Given the description of an element on the screen output the (x, y) to click on. 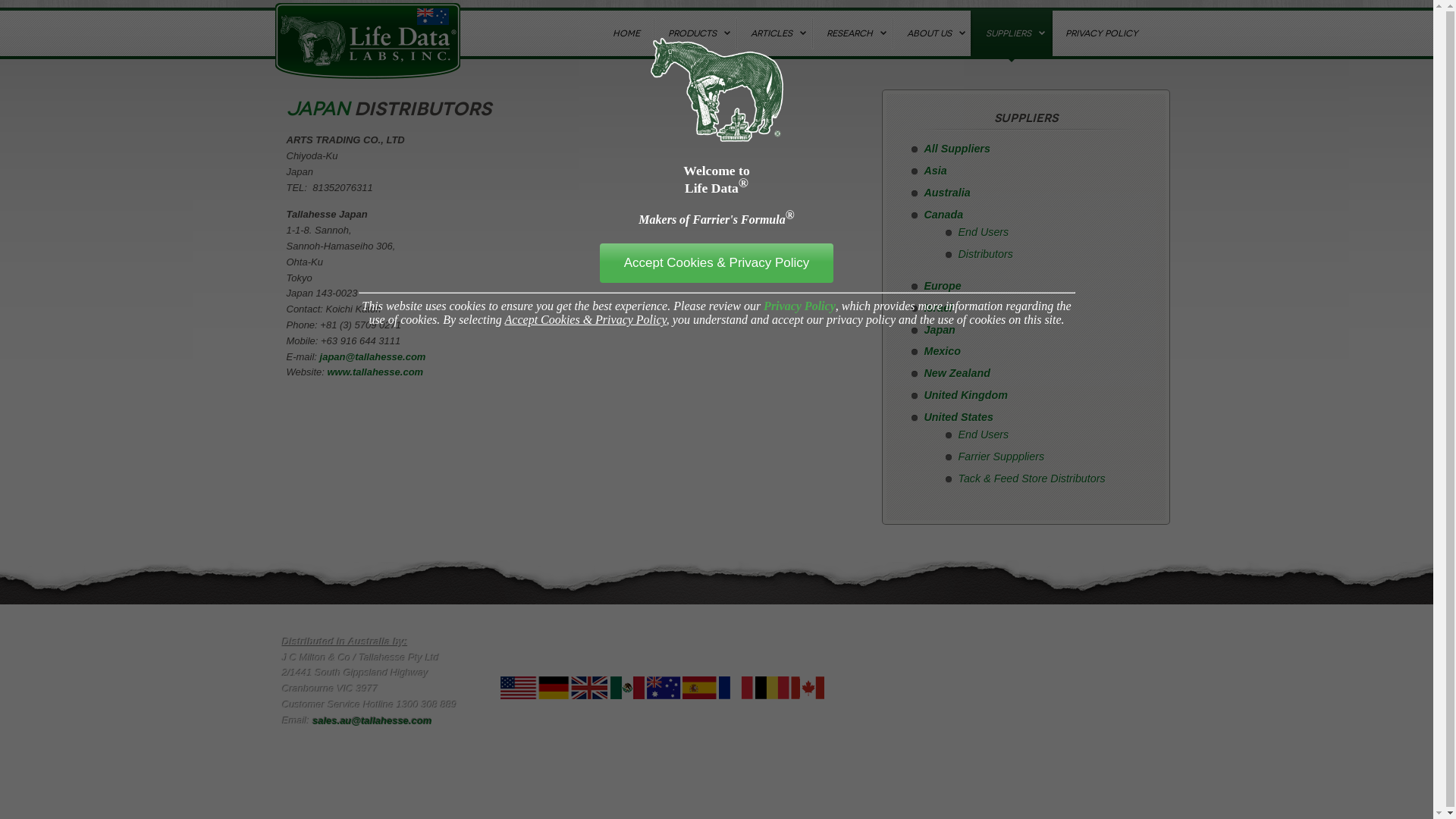
New Zealand Element type: text (956, 373)
Privacy Policy Element type: text (799, 305)
Tack & Feed Store Distributors Element type: text (1031, 478)
Australia Element type: text (946, 192)
RESEARCH Element type: text (851, 33)
United Kingdom Element type: text (965, 395)
End Users Element type: text (983, 231)
ARTICLES Element type: text (773, 33)
PRIVACY POLICY Element type: text (1100, 33)
Europe Element type: text (941, 285)
Accept Cookies & Privacy Policy Element type: text (716, 262)
Japan Element type: text (938, 329)
PRODUCTS Element type: text (693, 33)
Farrier Supppliers Element type: text (1001, 456)
End Users Element type: text (983, 434)
ABOUT US Element type: text (930, 33)
Israel Element type: text (937, 307)
SUPPLIERS Element type: text (1010, 33)
United States Element type: text (957, 417)
All Suppliers Element type: text (956, 148)
japan@tallahesse.com Element type: text (373, 356)
Mexico Element type: text (941, 351)
HOME Element type: text (624, 33)
sales.au@tallahesse.com Element type: text (371, 720)
www.tallahesse.com Element type: text (374, 371)
Asia Element type: text (934, 170)
Canada Element type: text (943, 214)
Distributors Element type: text (985, 253)
